Given the description of an element on the screen output the (x, y) to click on. 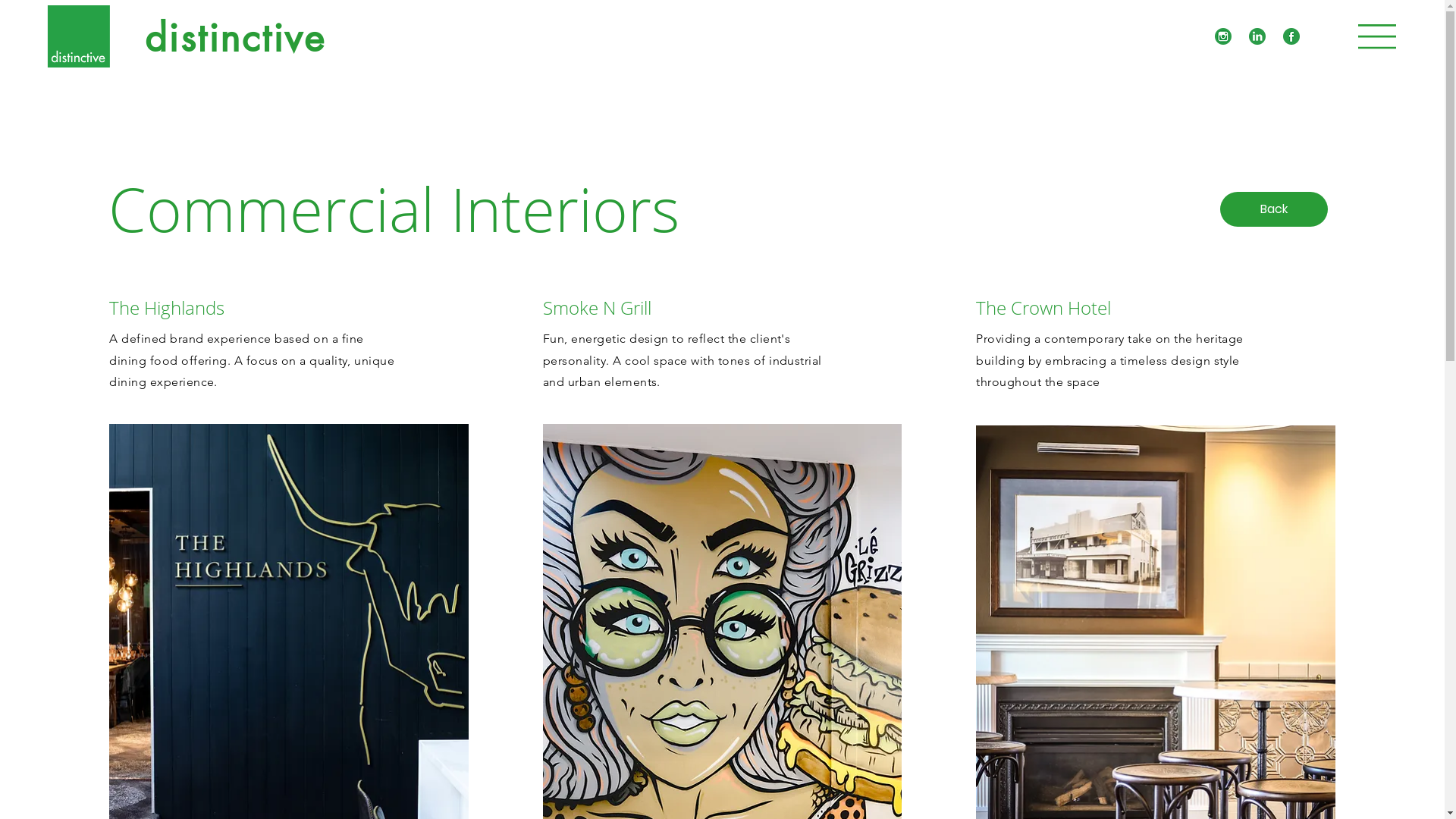
Back Element type: text (1273, 208)
